Given the description of an element on the screen output the (x, y) to click on. 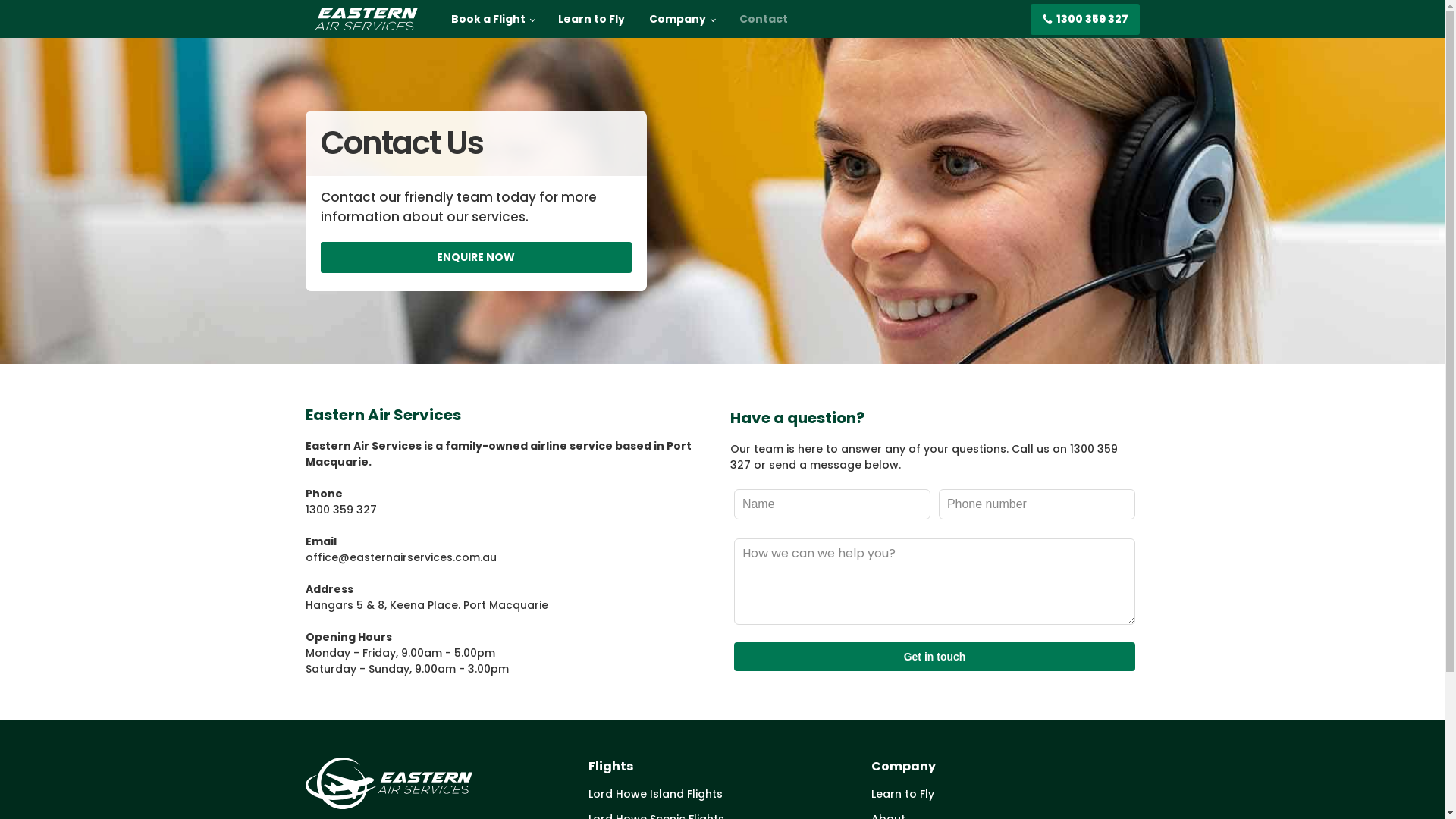
Company Element type: text (682, 18)
Lord Howe Island Flights Element type: text (722, 793)
Book a Flight Element type: text (491, 18)
Learn to Fly Element type: text (591, 18)
Learn to Fly Element type: text (1005, 793)
1300 359 327 Element type: text (1084, 18)
Get in touch Element type: text (934, 656)
ENQUIRE NOW Element type: text (475, 257)
Contact Element type: text (763, 18)
